Given the description of an element on the screen output the (x, y) to click on. 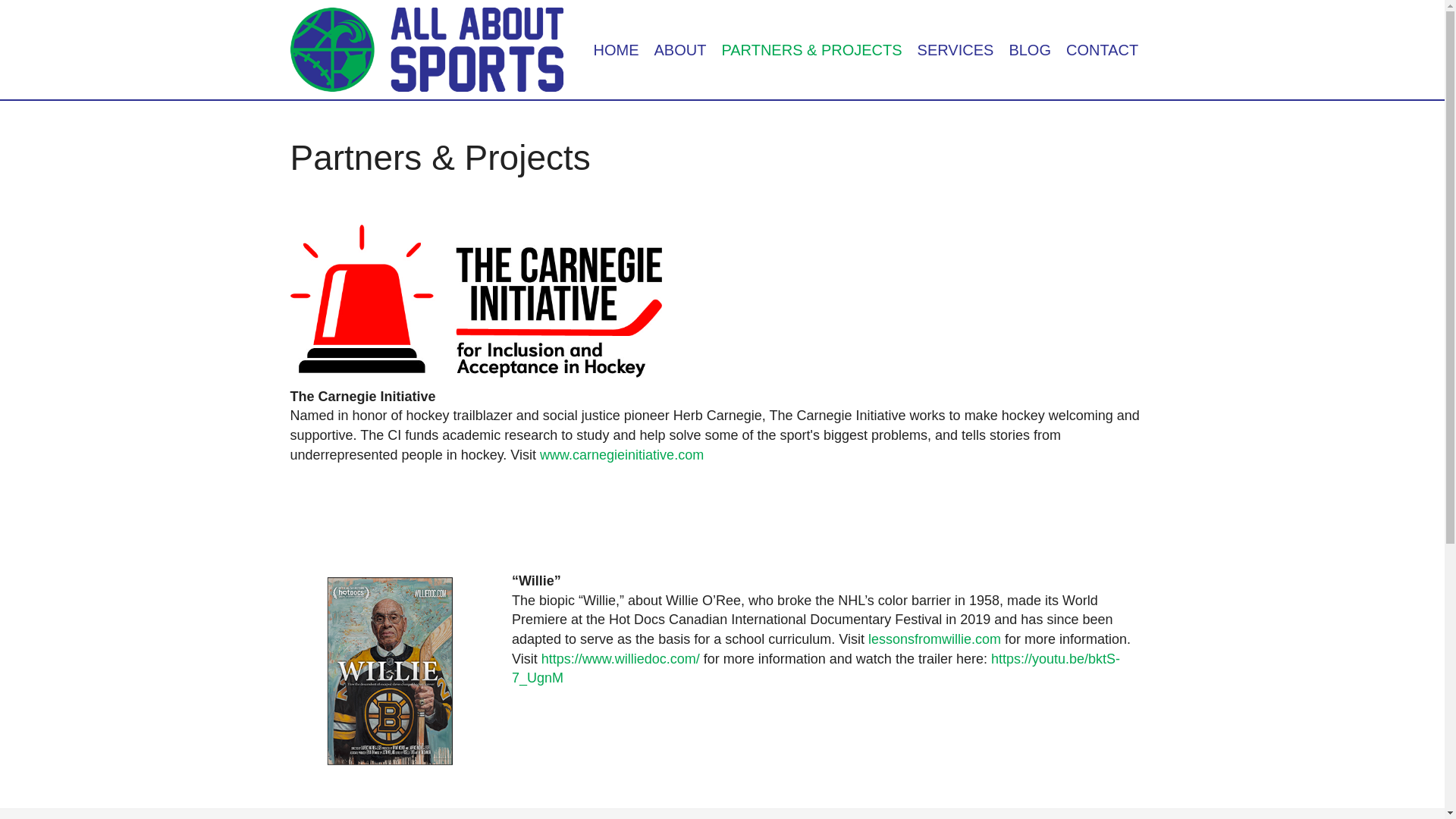
All About Sports Element type: hover (425, 49)
https://youtu.be/bktS-7_UgnM Element type: text (815, 668)
ABOUT Element type: text (679, 50)
HOME Element type: text (615, 50)
SERVICES Element type: text (955, 50)
https://www.williedoc.com/ Element type: text (620, 658)
lessonsfromwillie.com Element type: text (934, 638)
CONTACT Element type: text (1101, 50)
www.carnegieinitiative.com Element type: text (621, 454)
BLOG Element type: text (1029, 50)
PARTNERS & PROJECTS Element type: text (811, 50)
